Given the description of an element on the screen output the (x, y) to click on. 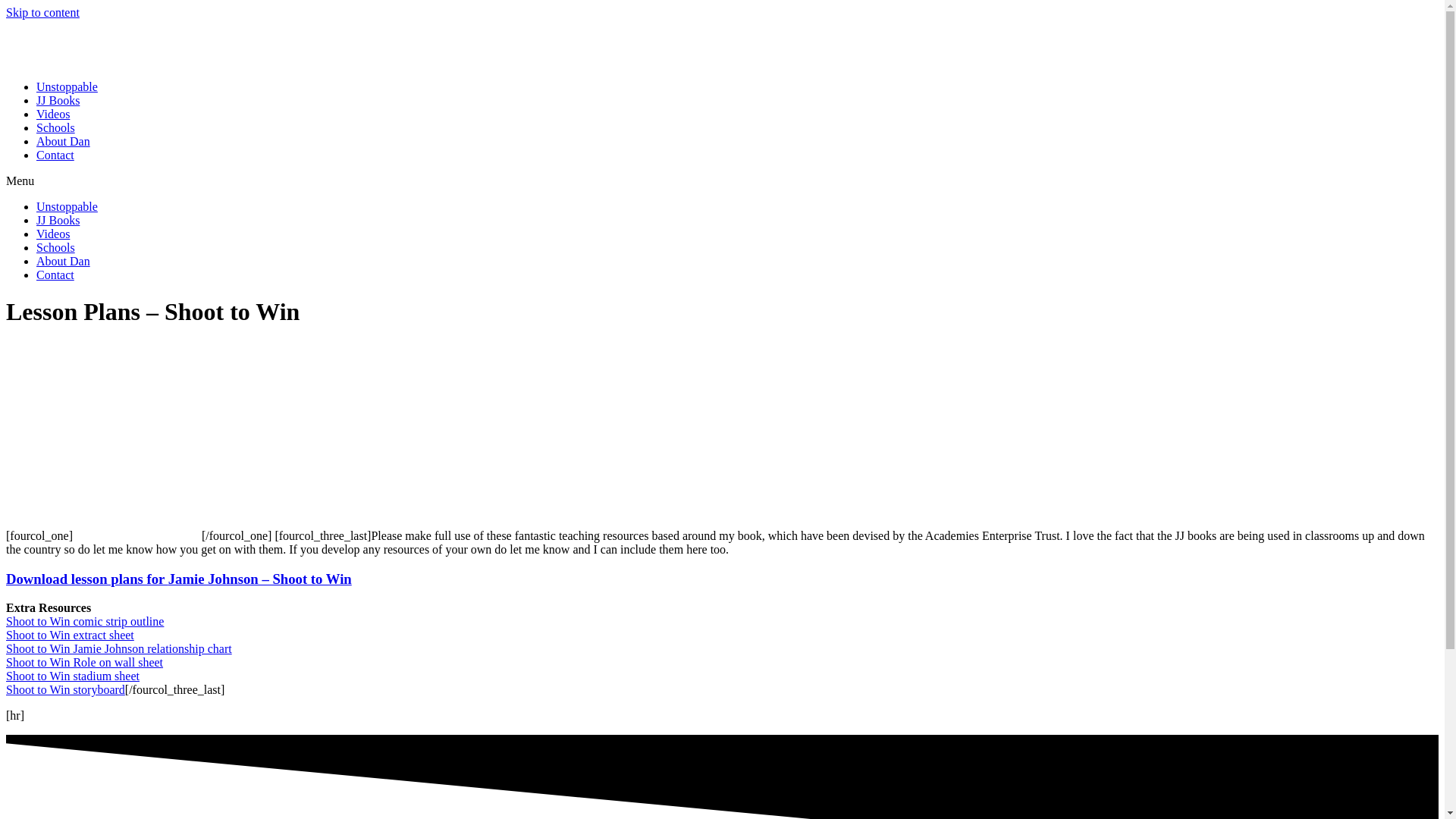
About Dan (63, 141)
Shoot to Win storyboard (65, 689)
Shoot to Win comic strip outline (84, 621)
JJ Books (58, 100)
Shoot to Win Role on wall sheet (84, 662)
Unstoppable (66, 205)
Contact (55, 274)
Schools (55, 246)
JJ Books (58, 219)
Videos (52, 233)
